Given the description of an element on the screen output the (x, y) to click on. 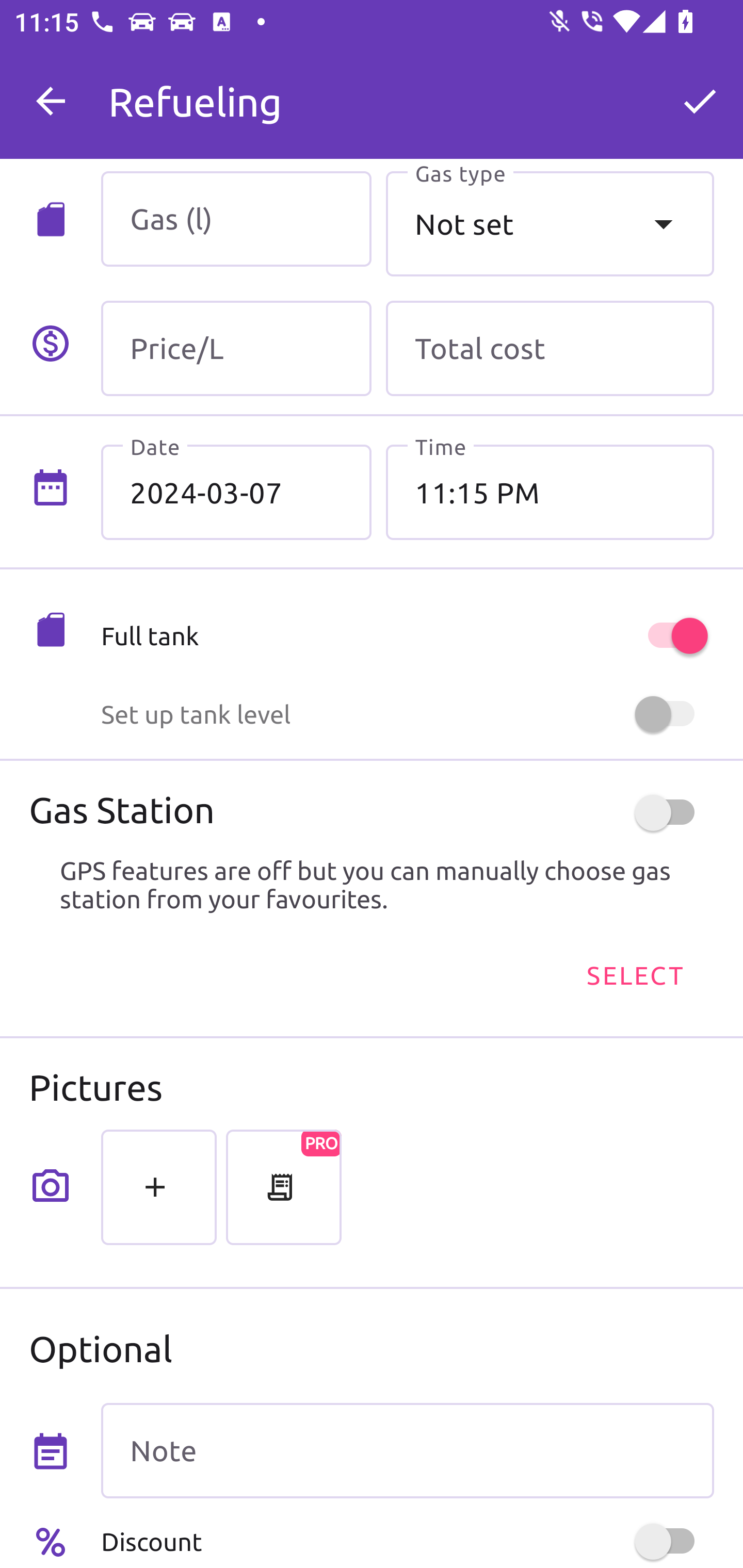
A No name 0 km (407, 92)
Navigate up (50, 101)
OK (699, 101)
Gas (l) (236, 218)
Not set (549, 222)
Price/L (236, 348)
Total cost  (549, 348)
2024-03-07 (236, 492)
11:15 PM (549, 492)
Full tank (407, 635)
Set up tank level (407, 713)
SELECT (634, 974)
Note (407, 1451)
Discount (407, 1541)
